Given the description of an element on the screen output the (x, y) to click on. 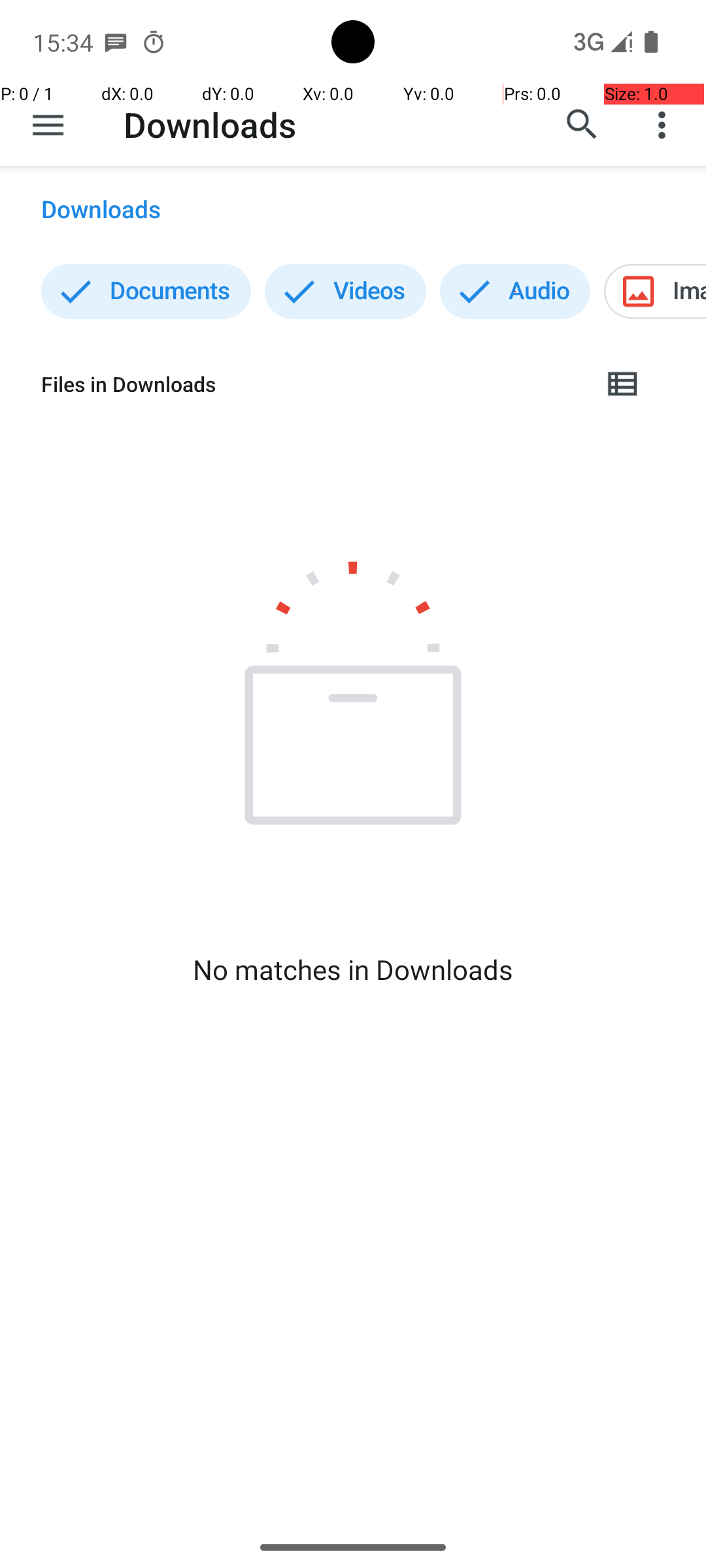
SMS Messenger notification: Amir dos Santos Element type: android.widget.ImageView (115, 41)
